Given the description of an element on the screen output the (x, y) to click on. 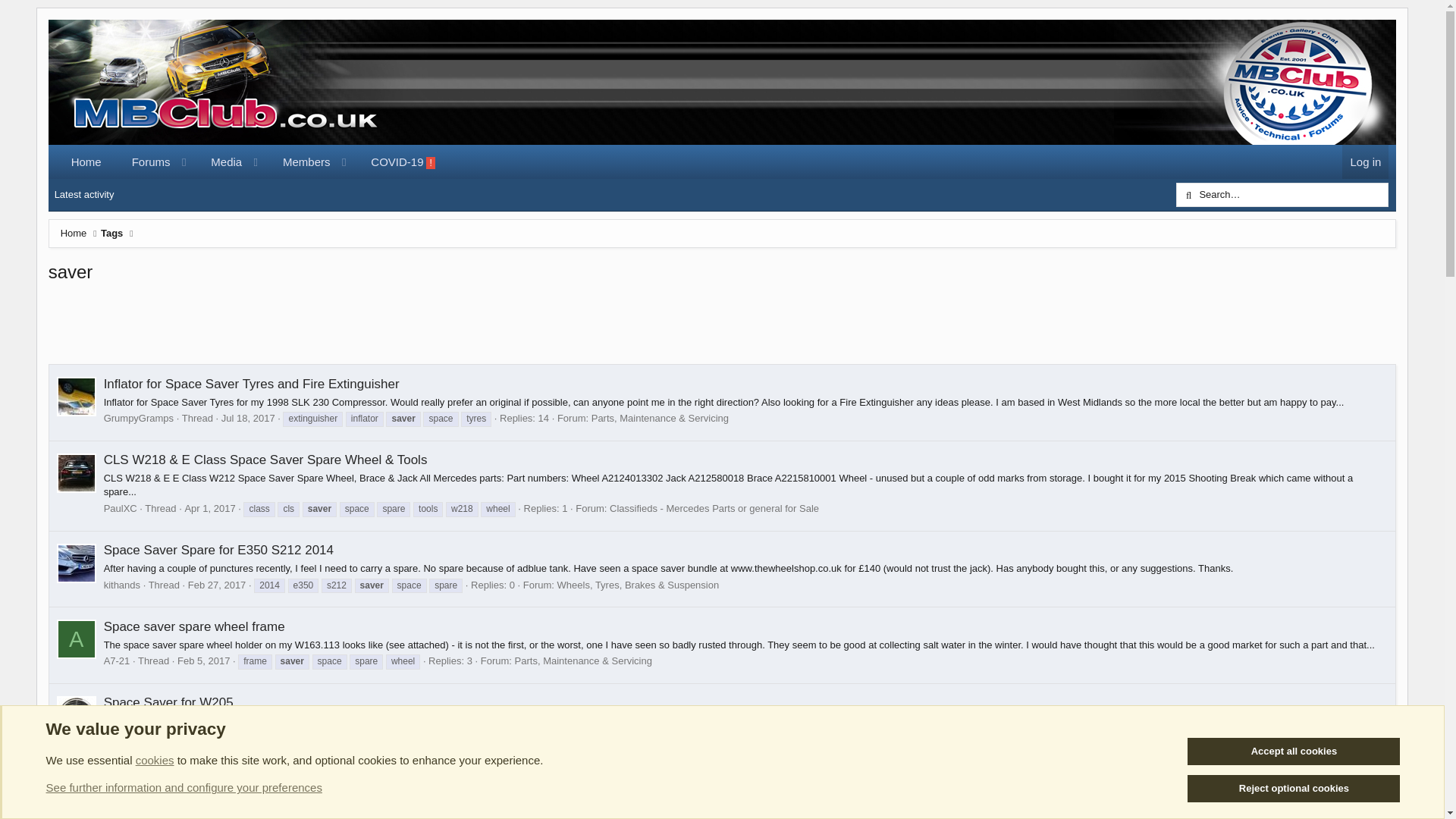
Log in (1365, 161)
Forums (143, 161)
Media (219, 161)
Apr 1, 2017 at 6:39 PM (209, 508)
Feb 27, 2017 at 10:32 PM (216, 584)
Latest activity (84, 194)
Home (74, 233)
GrumpyGramps (138, 418)
Members (299, 161)
Feb 5, 2017 at 11:43 PM (253, 178)
Inflator for Space Saver Tyres and Fire Extinguisher (203, 660)
PaulXC (250, 383)
COVID-19 (119, 508)
Classifieds - Mercedes Parts or general for Sale (402, 161)
